Given the description of an element on the screen output the (x, y) to click on. 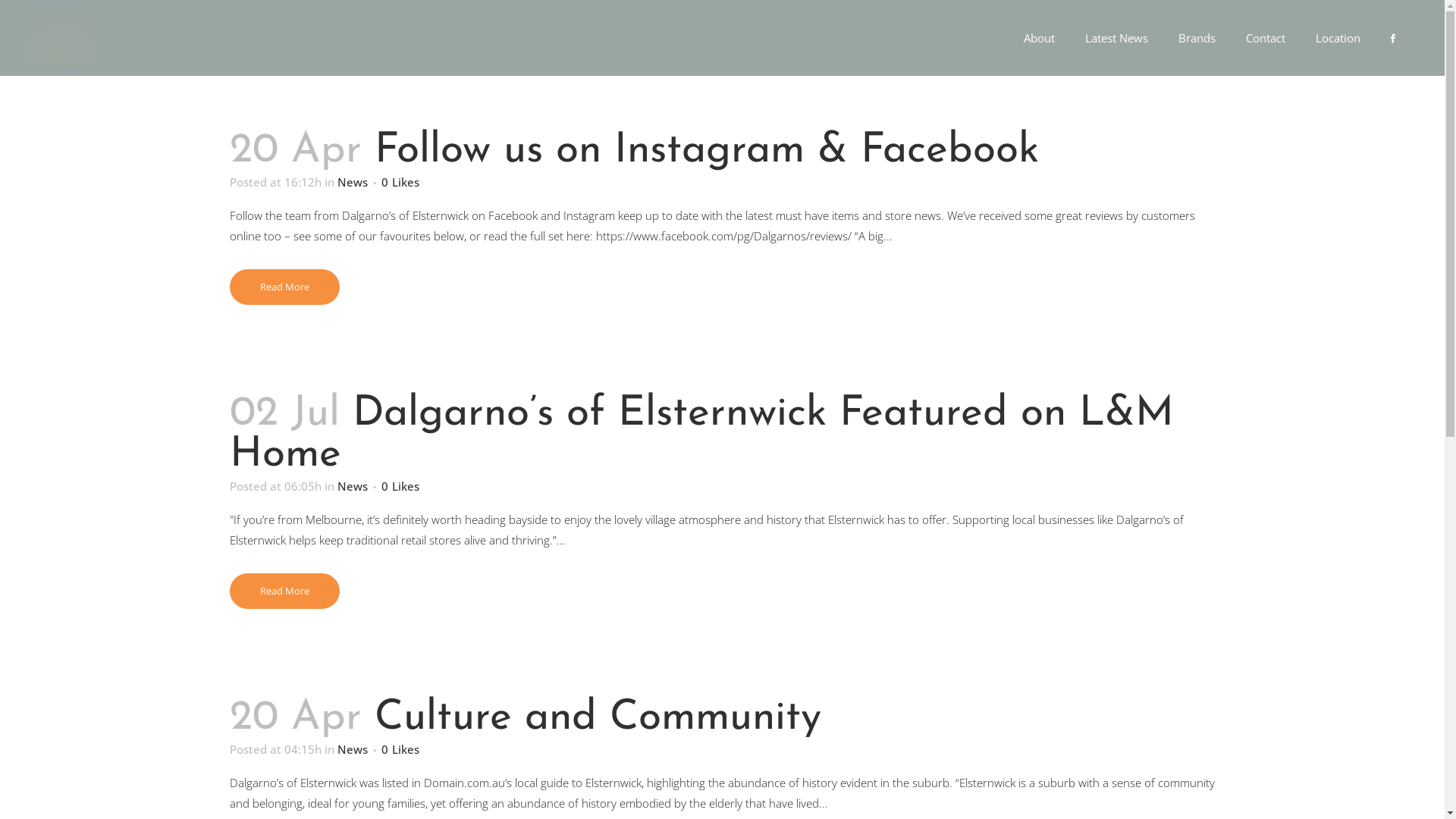
0 Likes Element type: text (399, 485)
Contact Element type: text (1265, 37)
0 Likes Element type: text (399, 181)
Culture and Community Element type: text (597, 718)
News Element type: text (351, 485)
Brands Element type: text (1196, 37)
Location Element type: text (1337, 37)
Follow us on Instagram & Facebook Element type: text (706, 151)
Latest News Element type: text (1116, 37)
About Element type: text (1039, 37)
News Element type: text (351, 748)
News Element type: text (351, 181)
Read More Element type: text (283, 286)
0 Likes Element type: text (399, 748)
Read More Element type: text (283, 590)
